Given the description of an element on the screen output the (x, y) to click on. 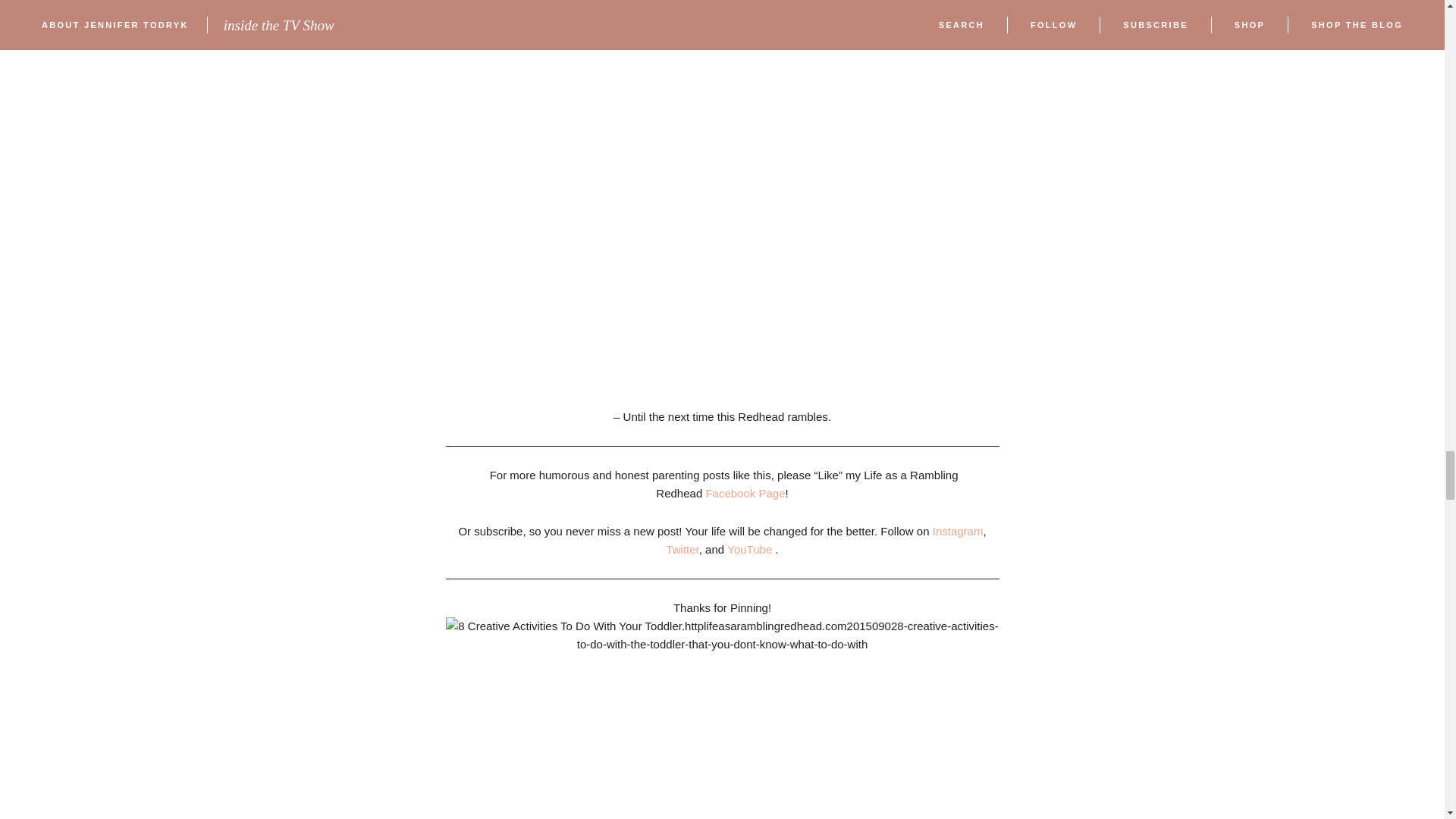
Facebook Page (744, 492)
YouTube (748, 549)
Instagram (958, 530)
Twitter (681, 549)
